Given the description of an element on the screen output the (x, y) to click on. 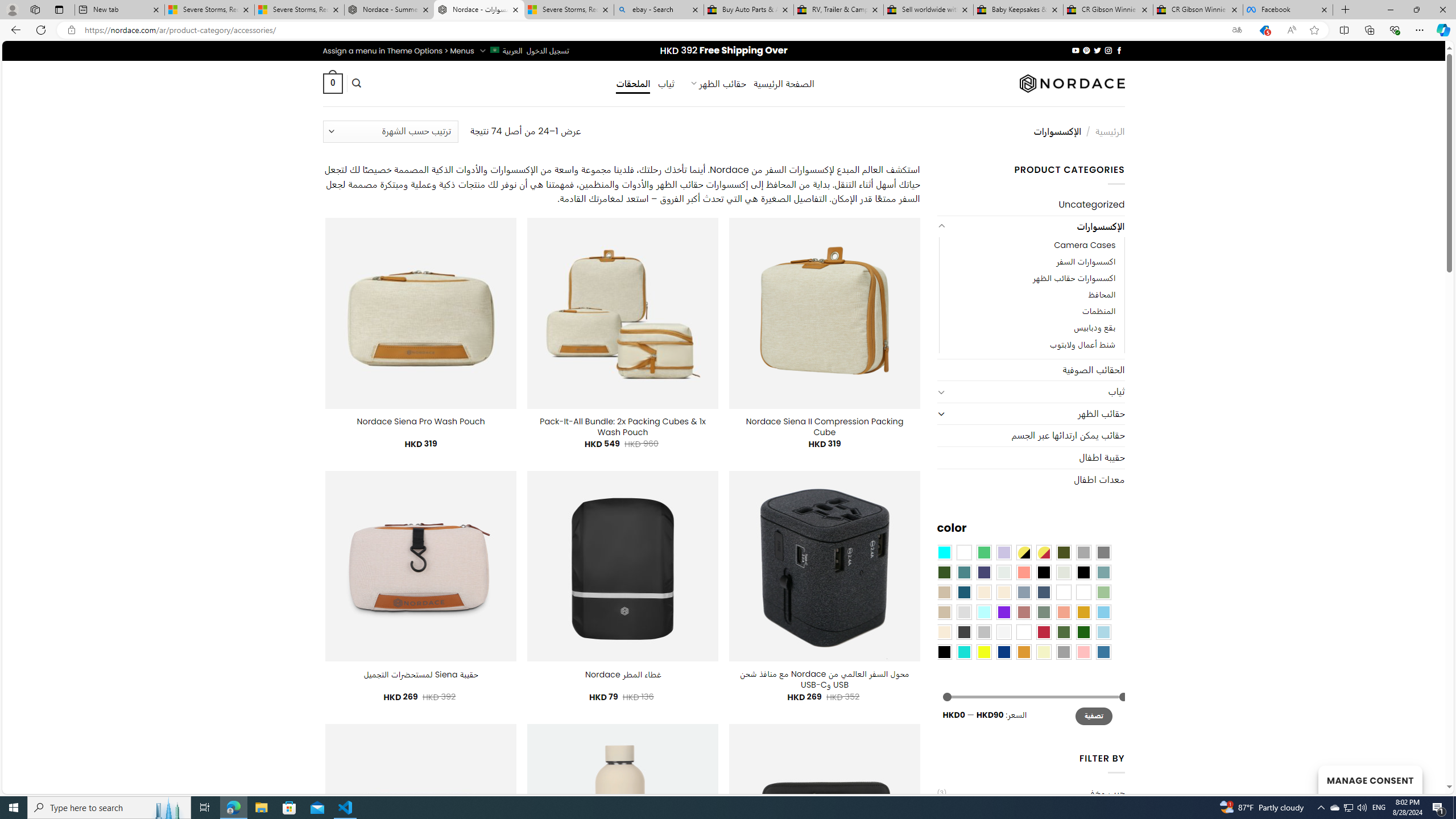
Dusty Blue (1023, 591)
Blue Sage (1103, 572)
Brownie (944, 591)
Capri Blue (963, 591)
